Given the description of an element on the screen output the (x, y) to click on. 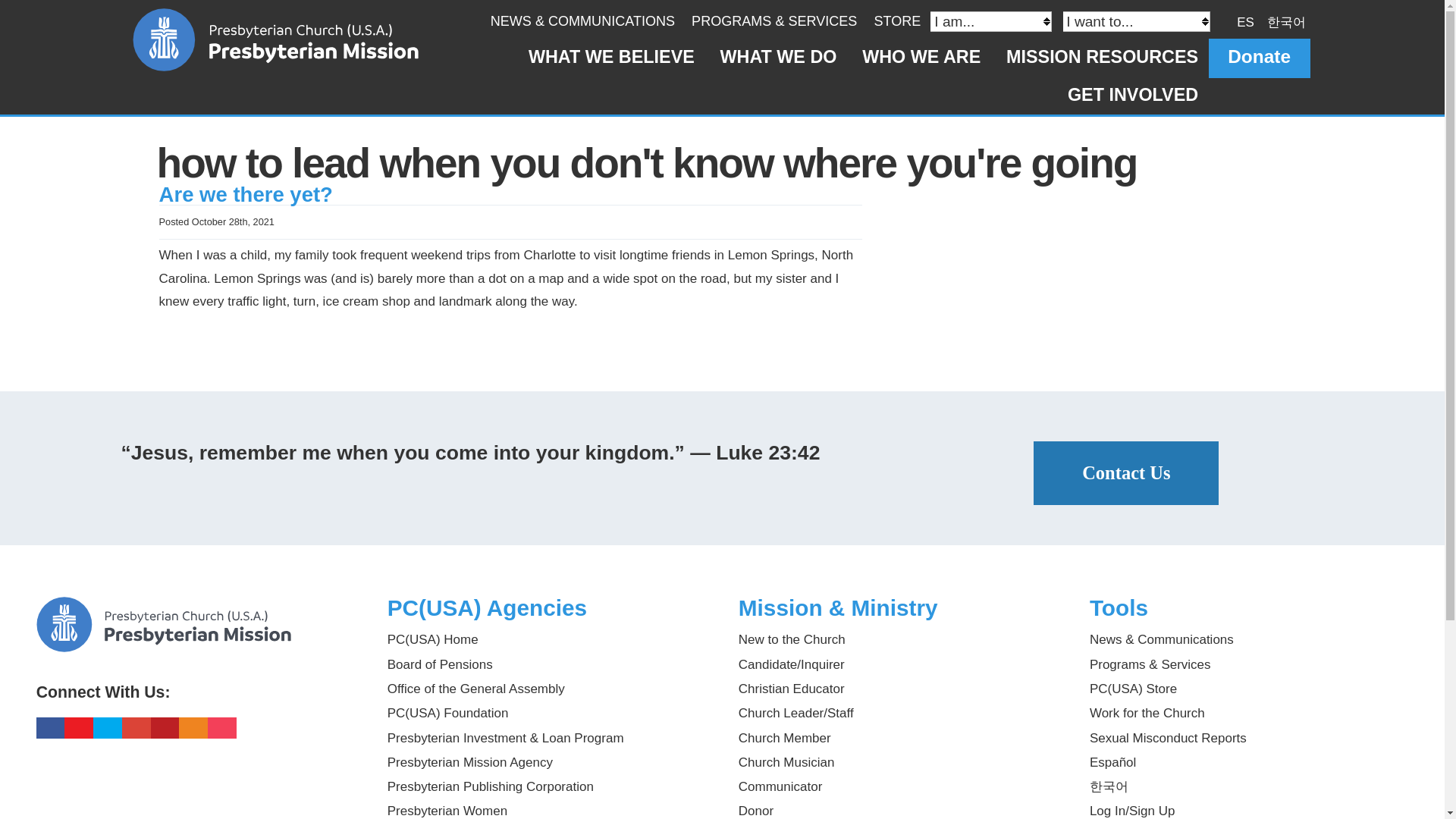
Are we there yet? (245, 194)
Follow Us on Social Media (195, 685)
STORE (896, 20)
ES (1245, 22)
